Given the description of an element on the screen output the (x, y) to click on. 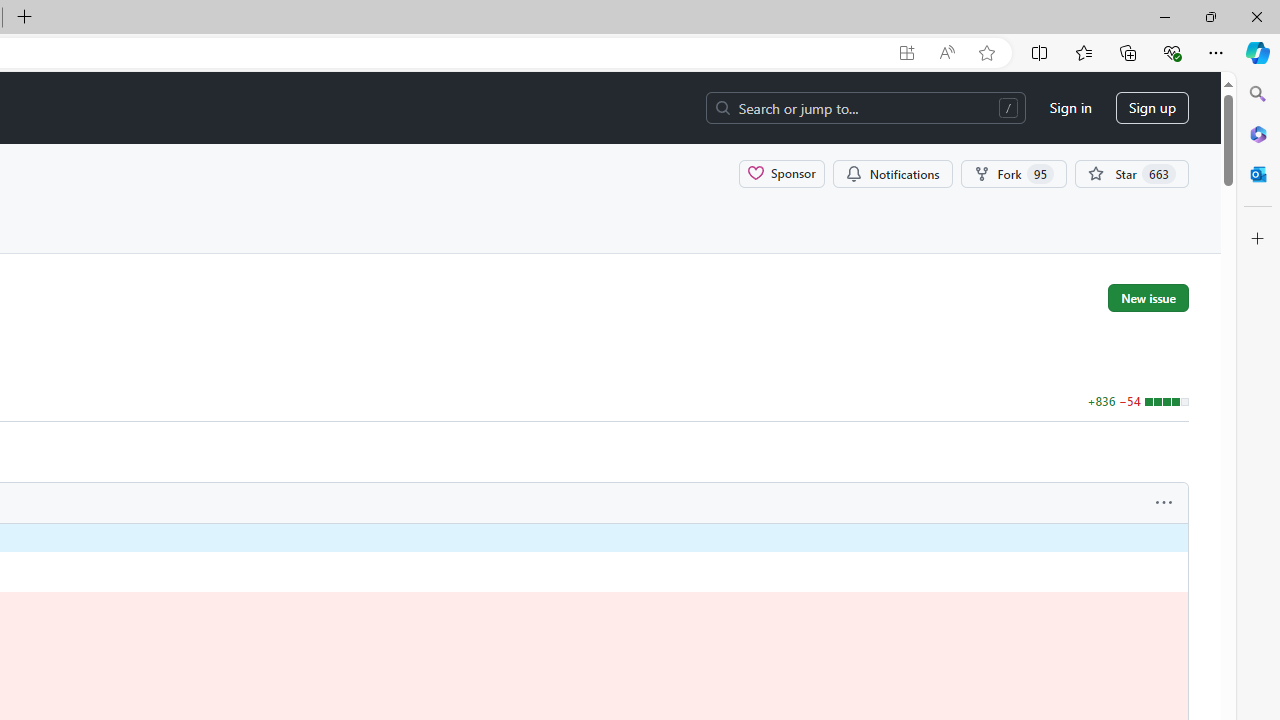
You must be signed in to star a repository (1132, 173)
Sponsor (781, 173)
You must be signed in to change notification settings (892, 173)
New issue (1148, 297)
Show options (1163, 503)
Fork 95 (1013, 173)
